Given the description of an element on the screen output the (x, y) to click on. 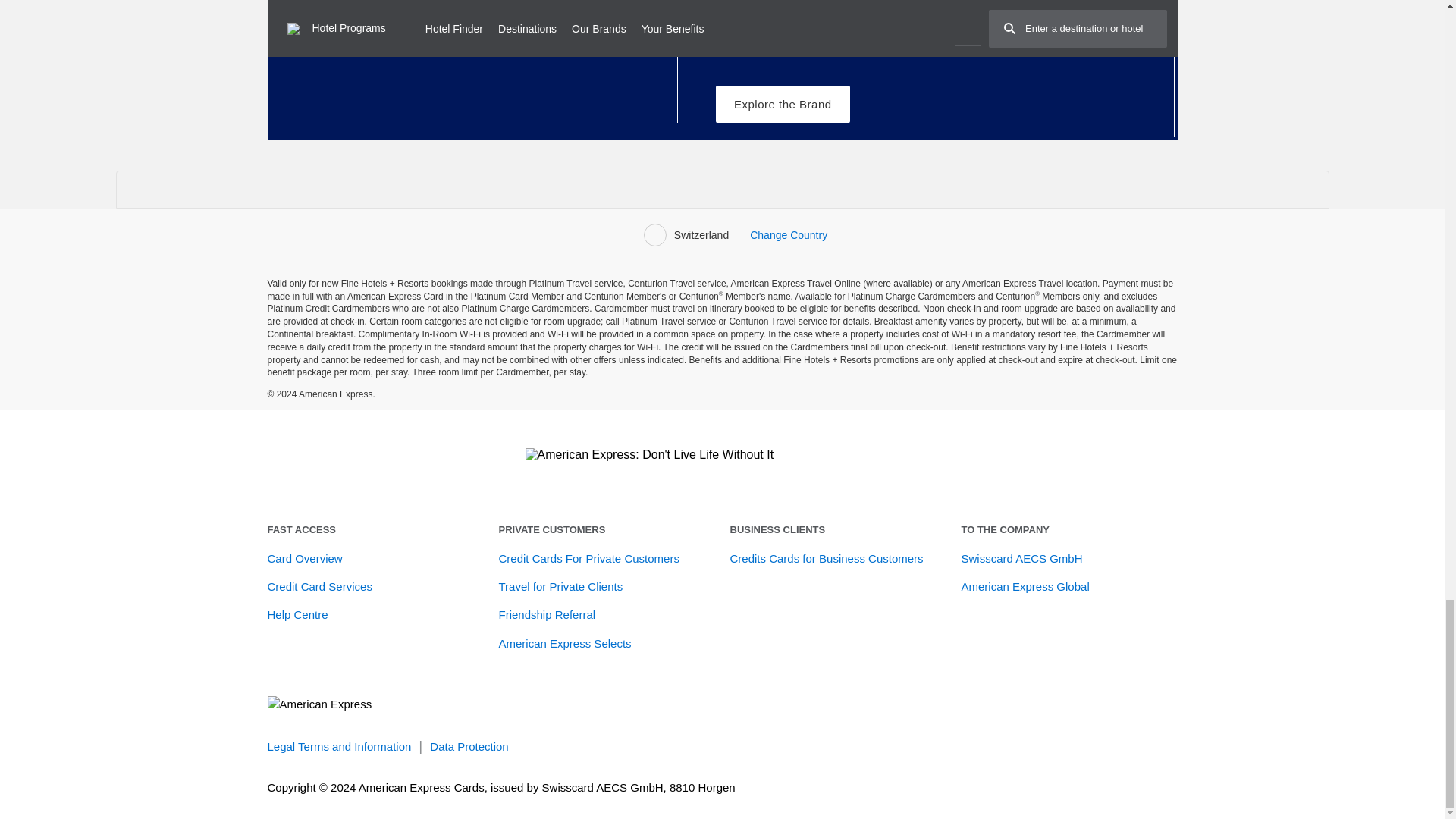
American Express Selects (565, 643)
Credit Card Services (318, 585)
Credits Cards for Business Customers (826, 558)
Card Overview (304, 558)
Travel for Private Clients (561, 585)
Credit cards for private customers (589, 558)
Friendship Referral (547, 614)
American Express Global (1024, 585)
Swisscard AECS GmbH (1021, 558)
Help Centre (296, 614)
